Given the description of an element on the screen output the (x, y) to click on. 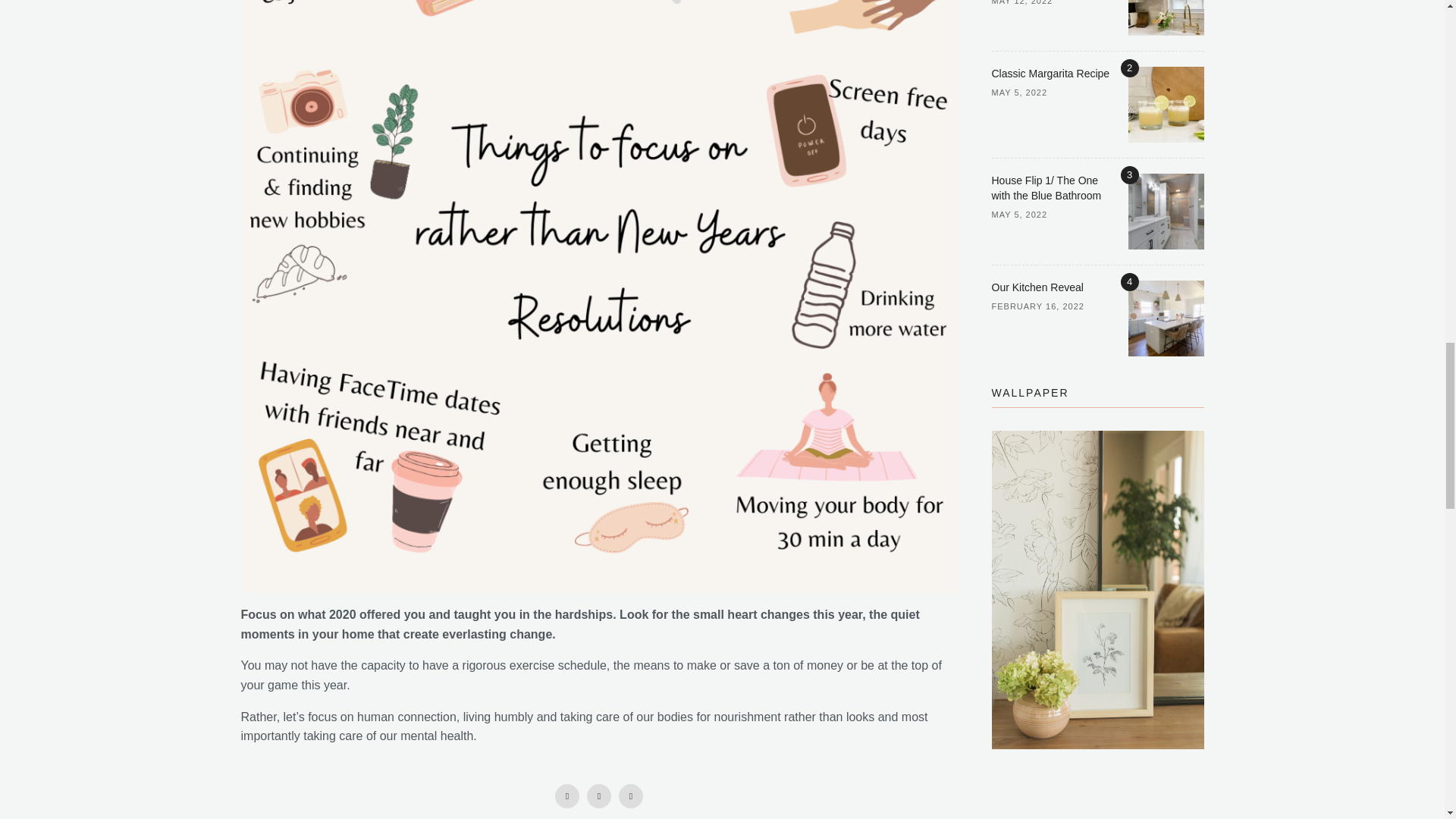
1 (1166, 18)
